Given the description of an element on the screen output the (x, y) to click on. 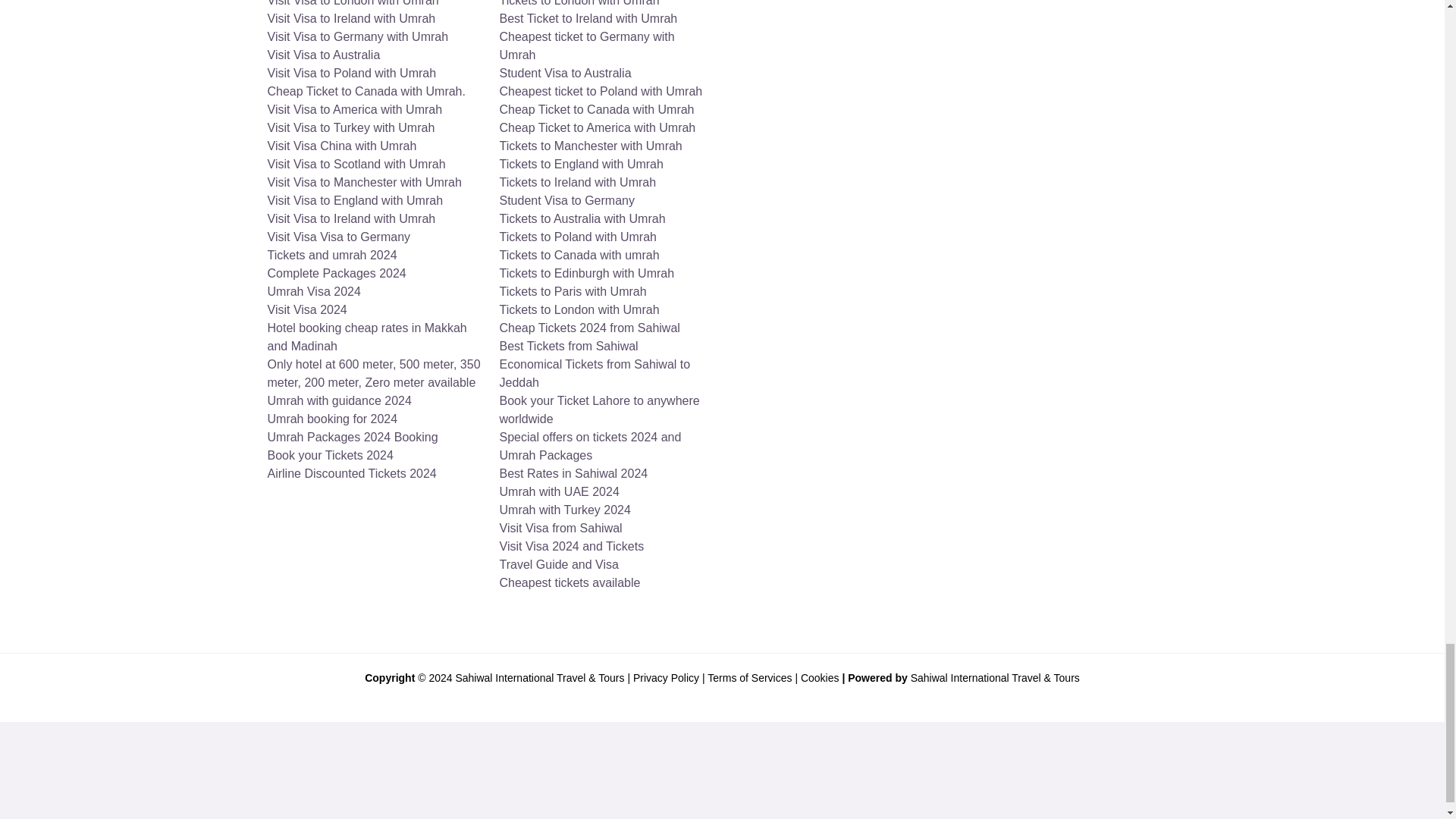
Cookies (820, 677)
Privacy Policy (665, 677)
Terms of Services (749, 677)
